Given the description of an element on the screen output the (x, y) to click on. 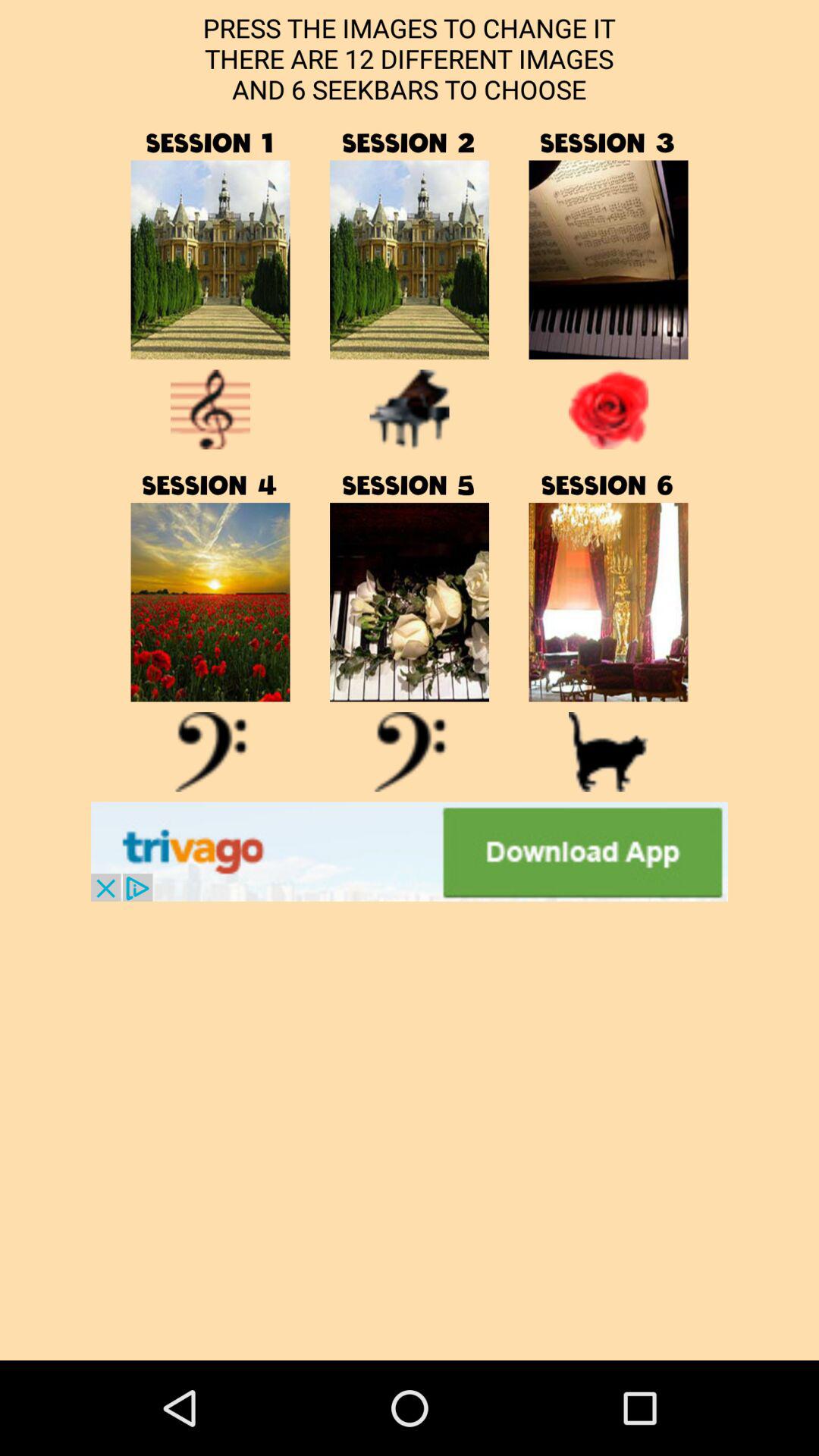
open session 4 (210, 751)
